Given the description of an element on the screen output the (x, y) to click on. 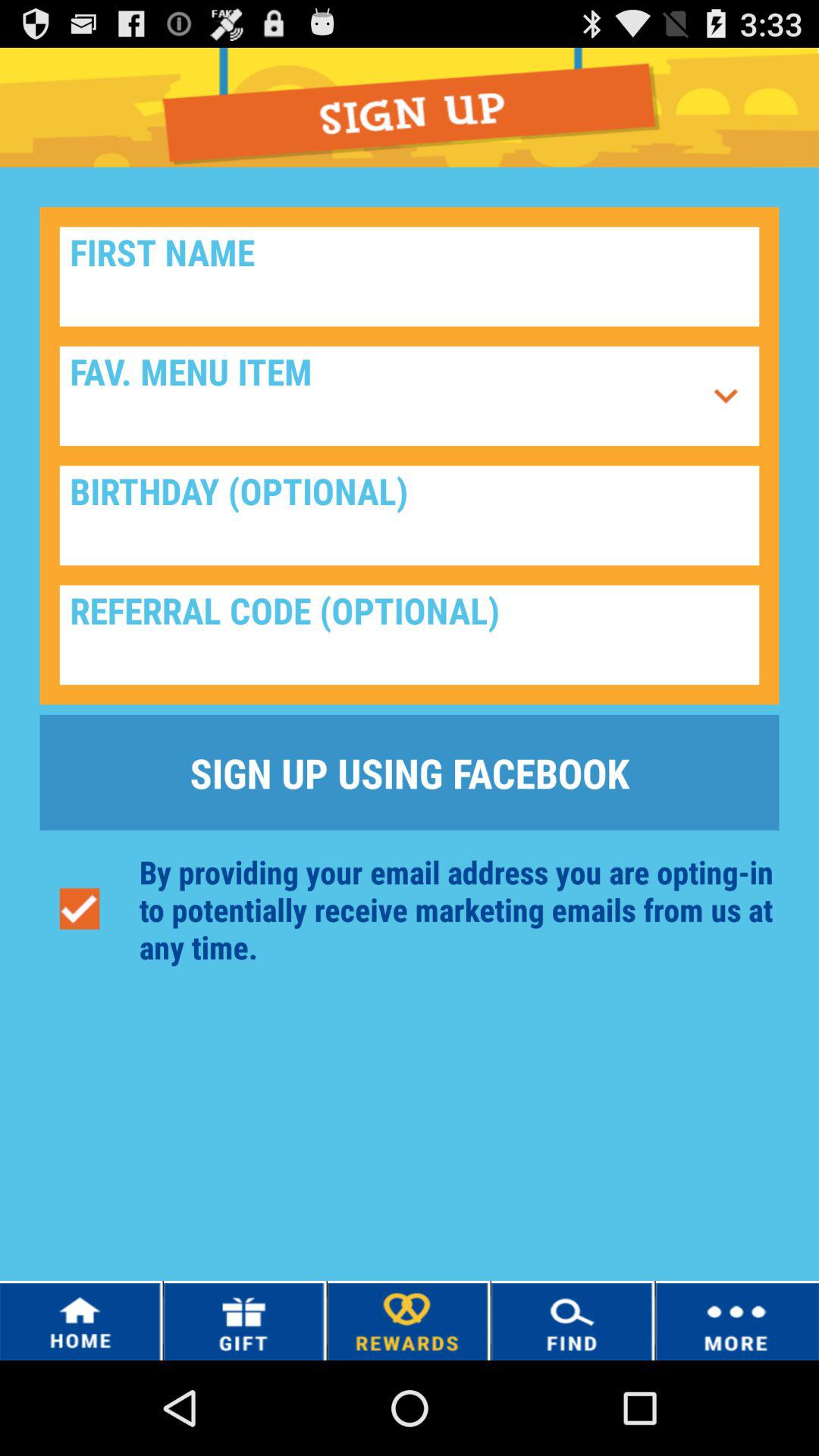
opt in to marketing (79, 909)
